Given the description of an element on the screen output the (x, y) to click on. 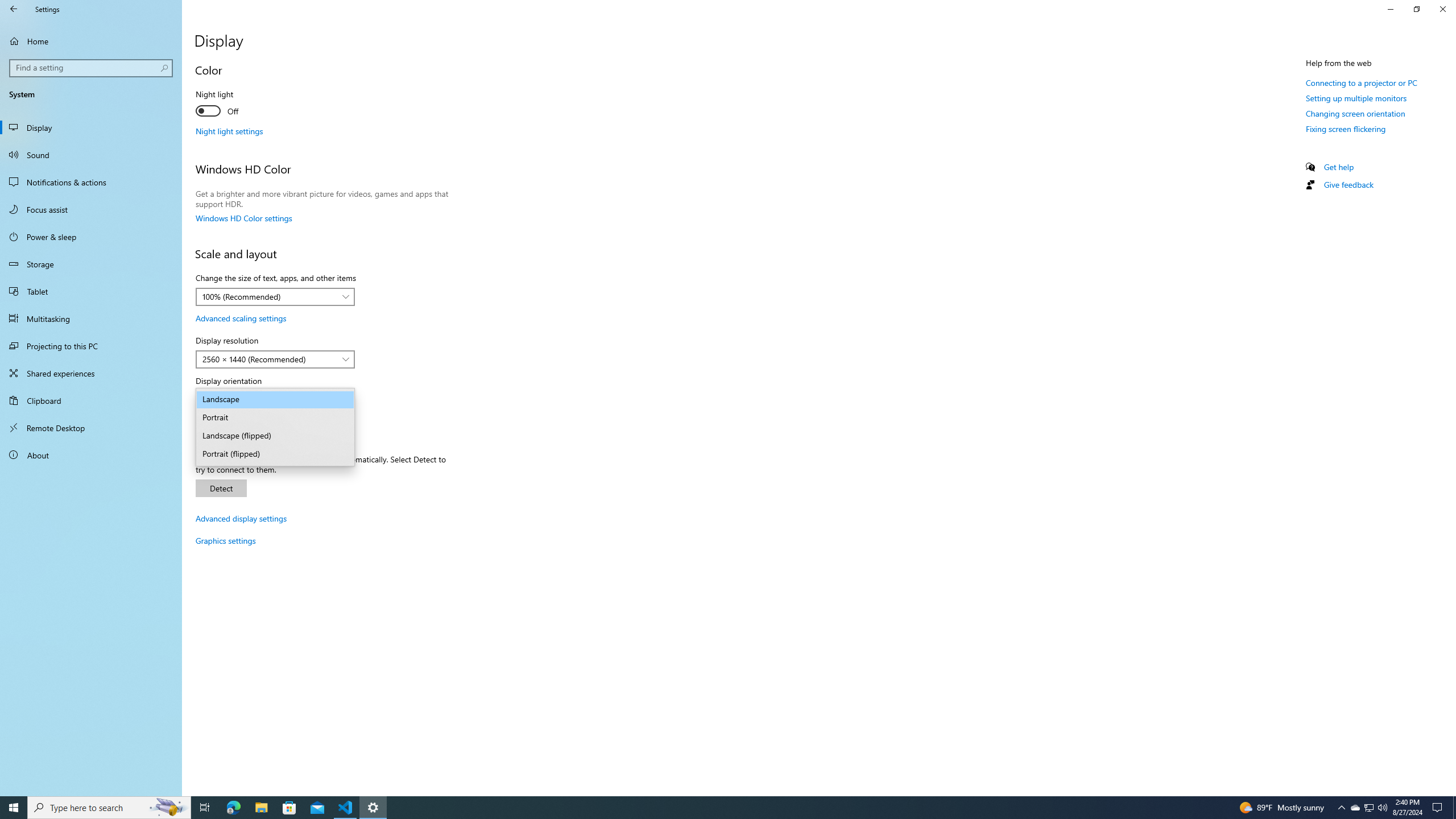
Start (13, 807)
Clipboard (91, 400)
Display resolution (275, 359)
Visual Studio Code - 1 running window (1368, 807)
Tablet (345, 807)
Running applications (91, 290)
Remote Desktop (717, 807)
Settings - 1 running window (91, 427)
Storage (373, 807)
Display orientation (91, 263)
Search box, Find a setting (275, 399)
Changing screen orientation (91, 67)
Show desktop (1355, 113)
Close Settings (1454, 807)
